Given the description of an element on the screen output the (x, y) to click on. 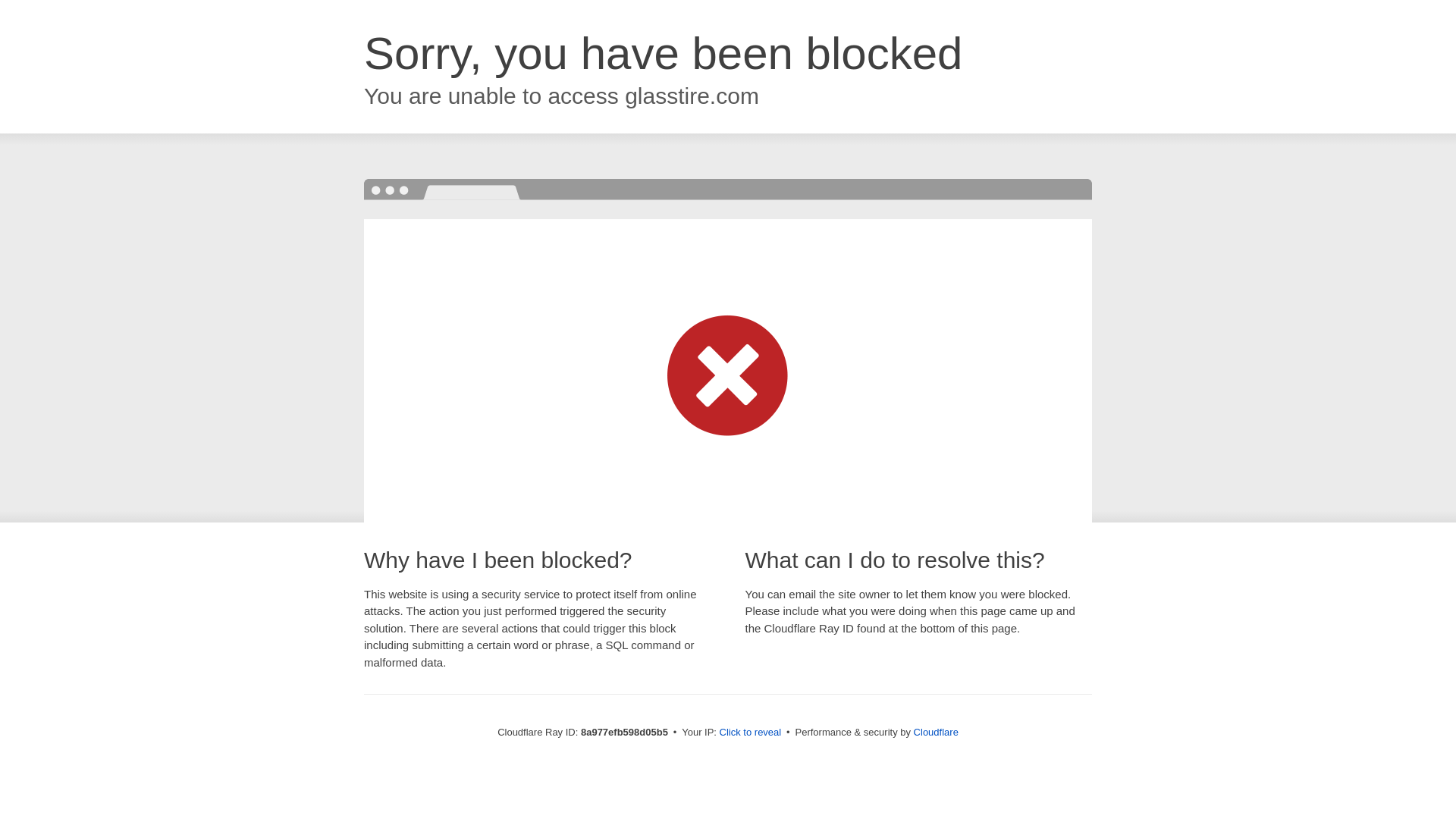
Click to reveal (750, 732)
Cloudflare (936, 731)
